Given the description of an element on the screen output the (x, y) to click on. 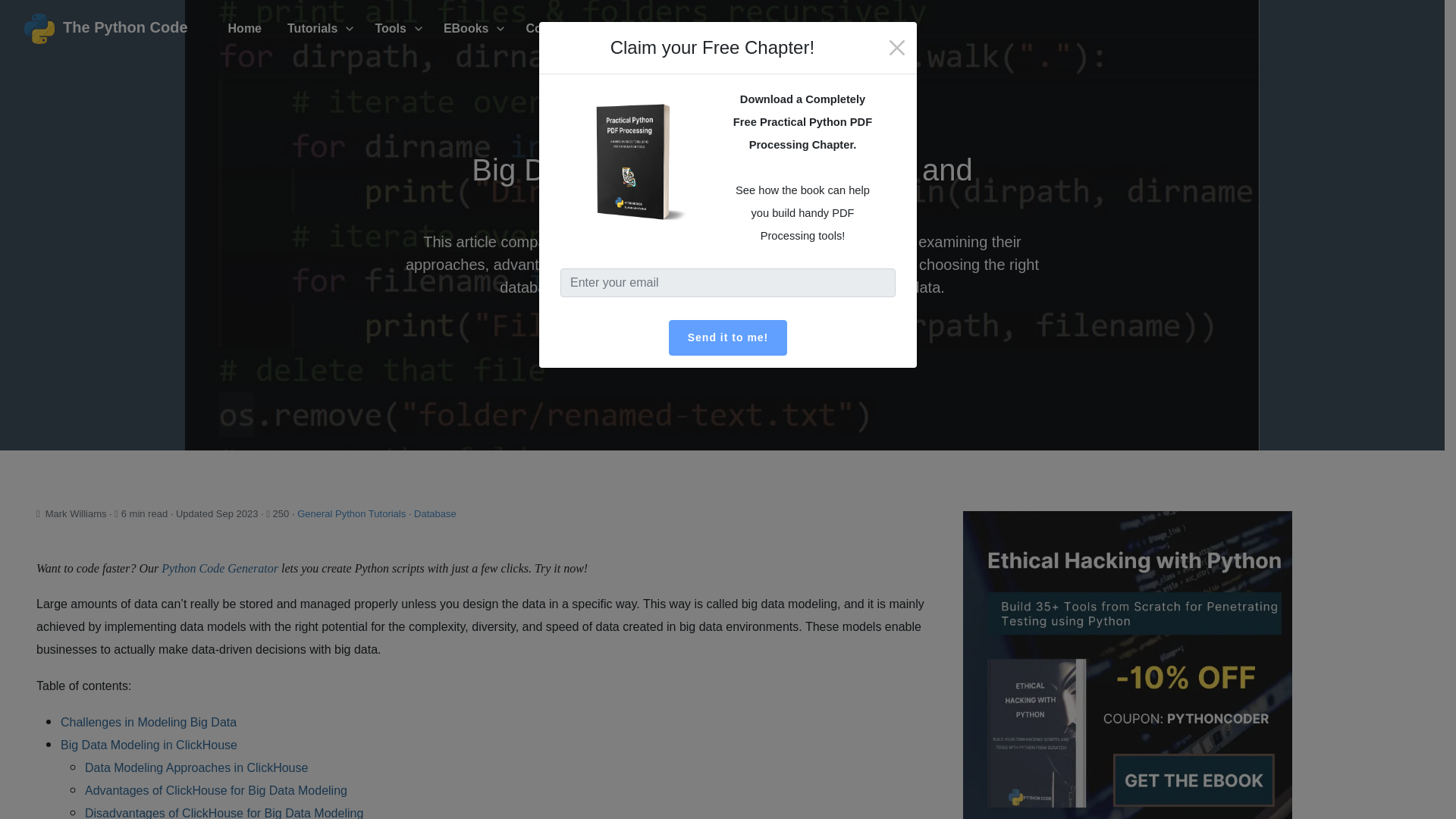
Home (245, 28)
EBooks (471, 28)
Tutorials (318, 28)
Tools (395, 28)
  The Python Code (105, 28)
General Python Tutorials (351, 513)
Contact Us (557, 28)
